Given the description of an element on the screen output the (x, y) to click on. 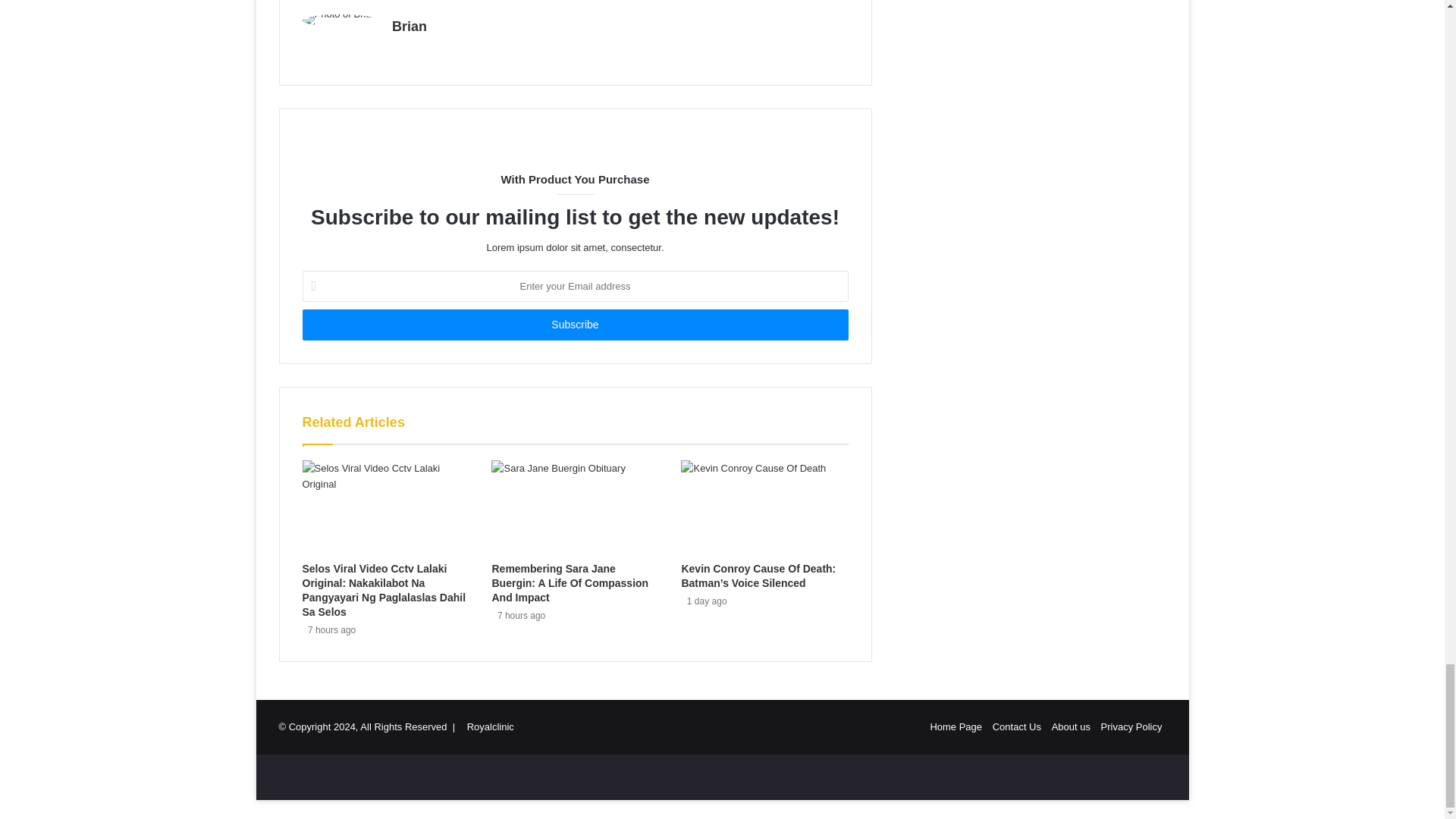
Subscribe (574, 324)
